Given the description of an element on the screen output the (x, y) to click on. 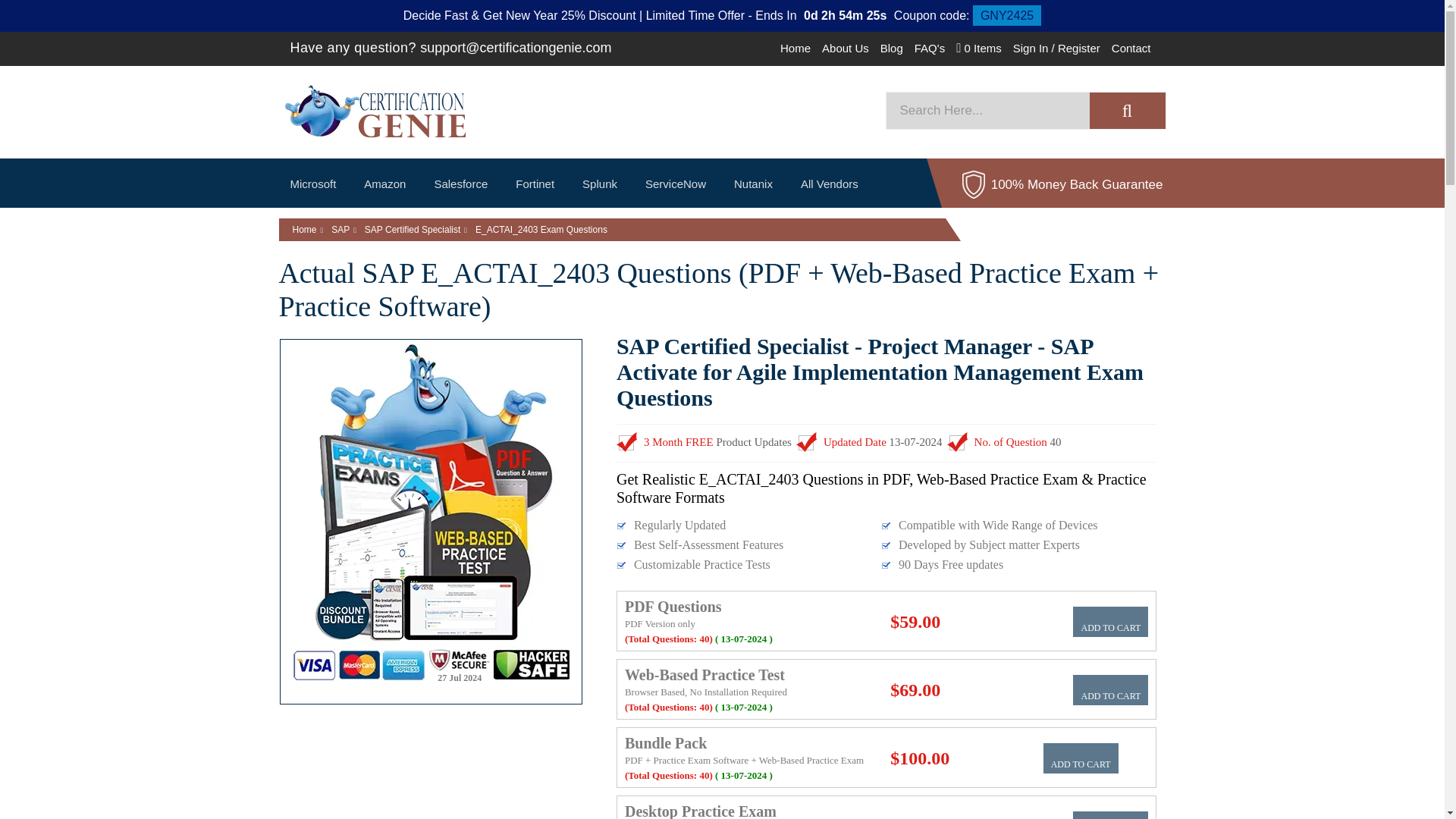
About Us (845, 47)
ADD TO CART (1080, 757)
Amazon (384, 183)
ADD TO CART (1110, 621)
ADD TO CART (1110, 815)
Microsoft (314, 183)
ADD TO CART (1110, 689)
Splunk (599, 183)
Home (304, 229)
Home (795, 47)
Salesforce (460, 183)
Blog (891, 47)
Contact (1131, 47)
All Vendors (829, 183)
0 Items (978, 47)
